Given the description of an element on the screen output the (x, y) to click on. 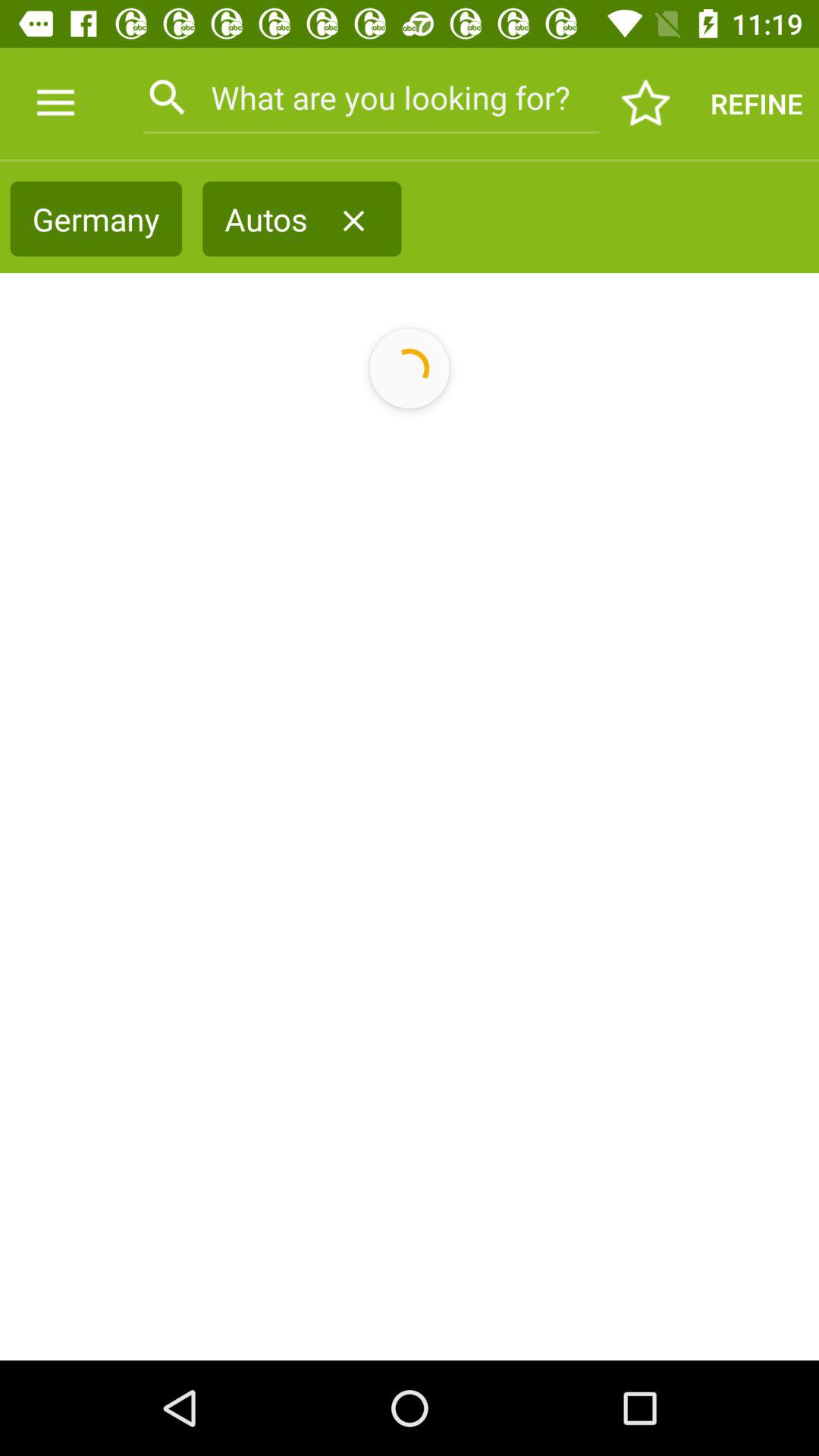
scroll until the what are you (370, 97)
